Given the description of an element on the screen output the (x, y) to click on. 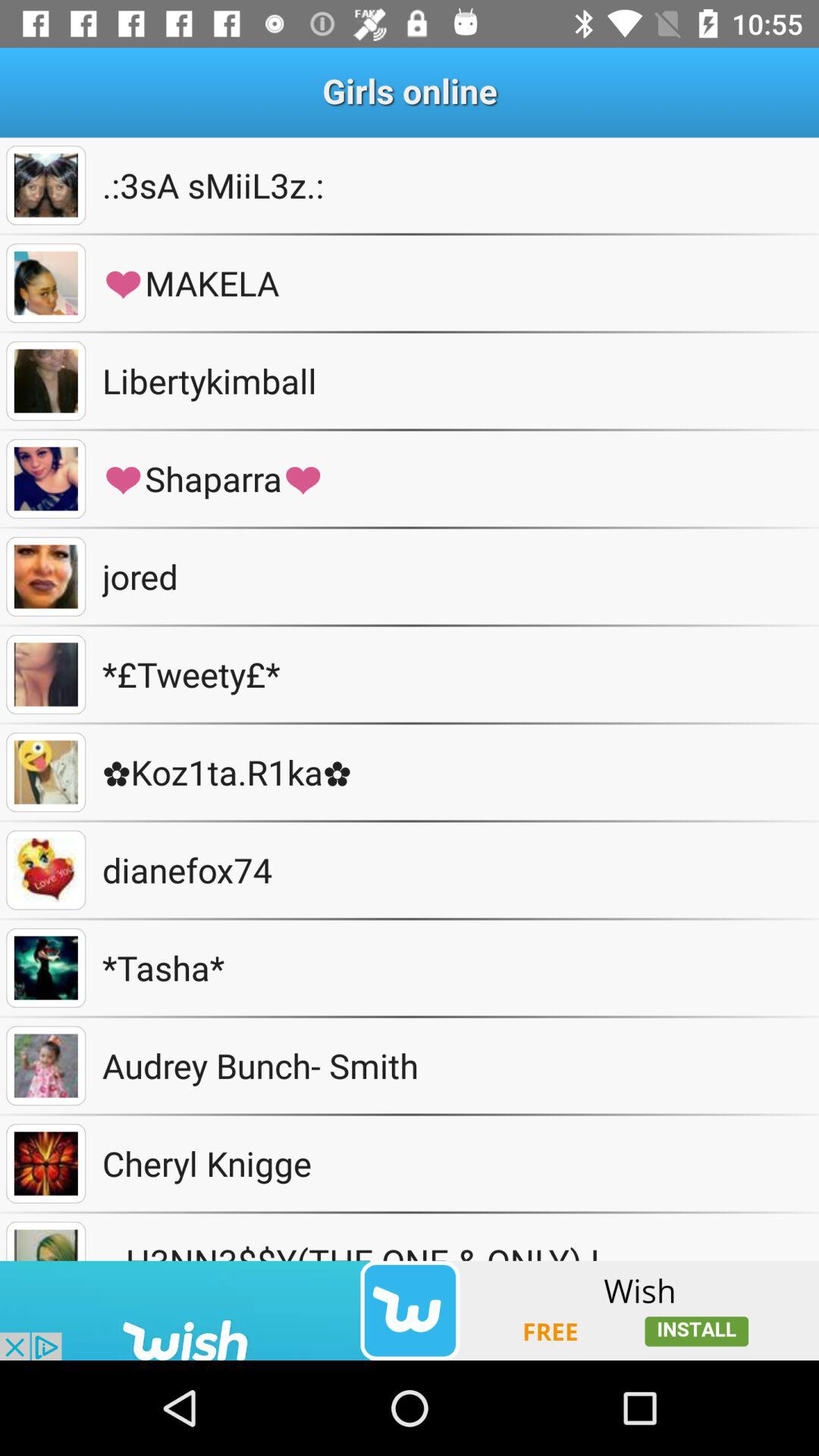
choose profile (45, 1240)
